Given the description of an element on the screen output the (x, y) to click on. 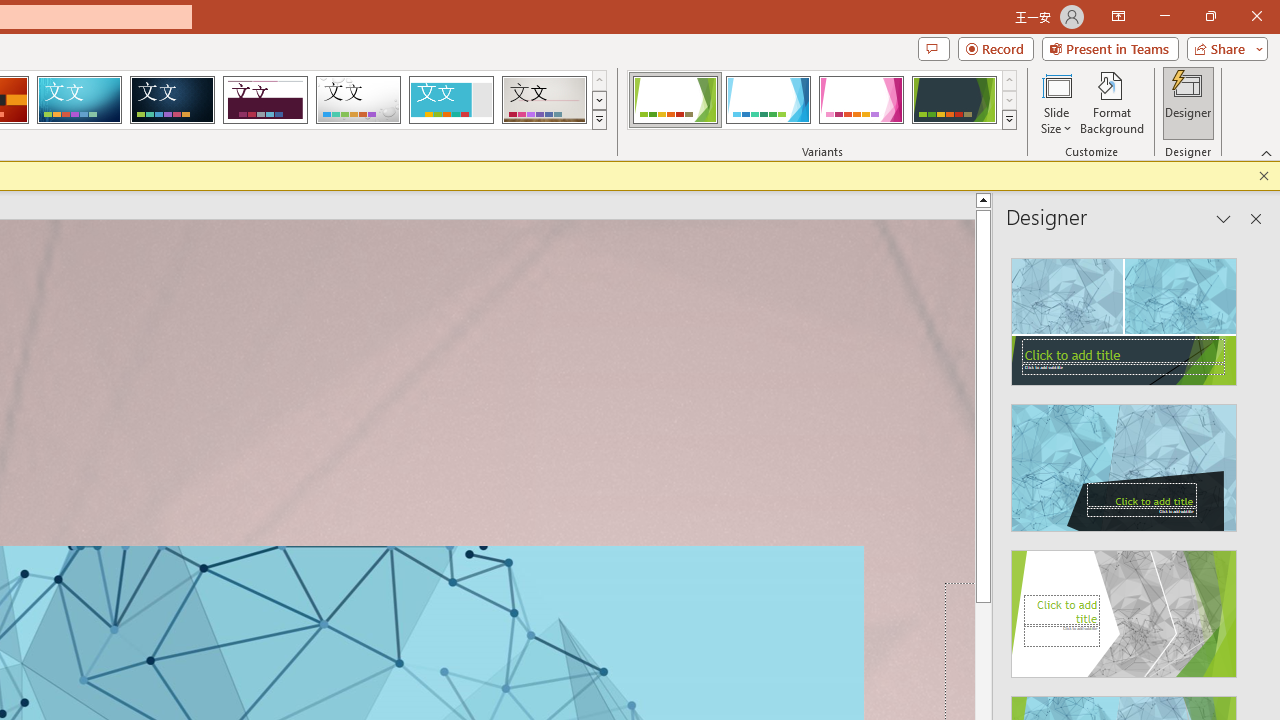
Facet Variant 1 (674, 100)
Facet Variant 3 (861, 100)
AutomationID: ThemeVariantsGallery (822, 99)
Format Background (1111, 102)
Facet Variant 2 (768, 100)
Recommended Design: Design Idea (1124, 315)
Close this message (1263, 176)
